Given the description of an element on the screen output the (x, y) to click on. 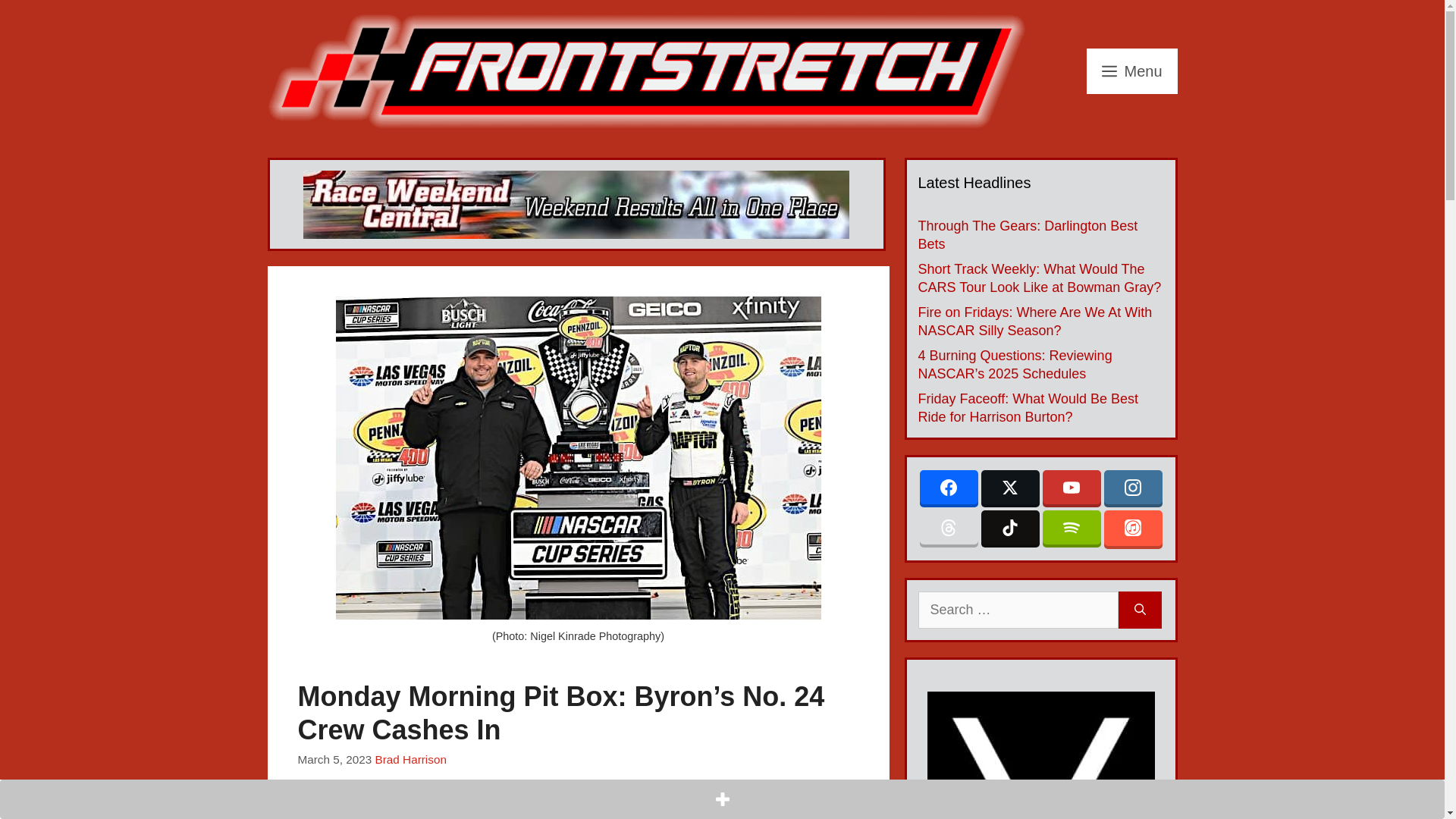
Share on Twitter (344, 809)
Share on Reddit (376, 809)
Share on Facebook (311, 809)
Menu (1131, 71)
Share on Email (410, 809)
Share on Copy Link (442, 809)
Search for: (1017, 609)
Share on Comments (475, 809)
Brad Harrison (410, 758)
